Given the description of an element on the screen output the (x, y) to click on. 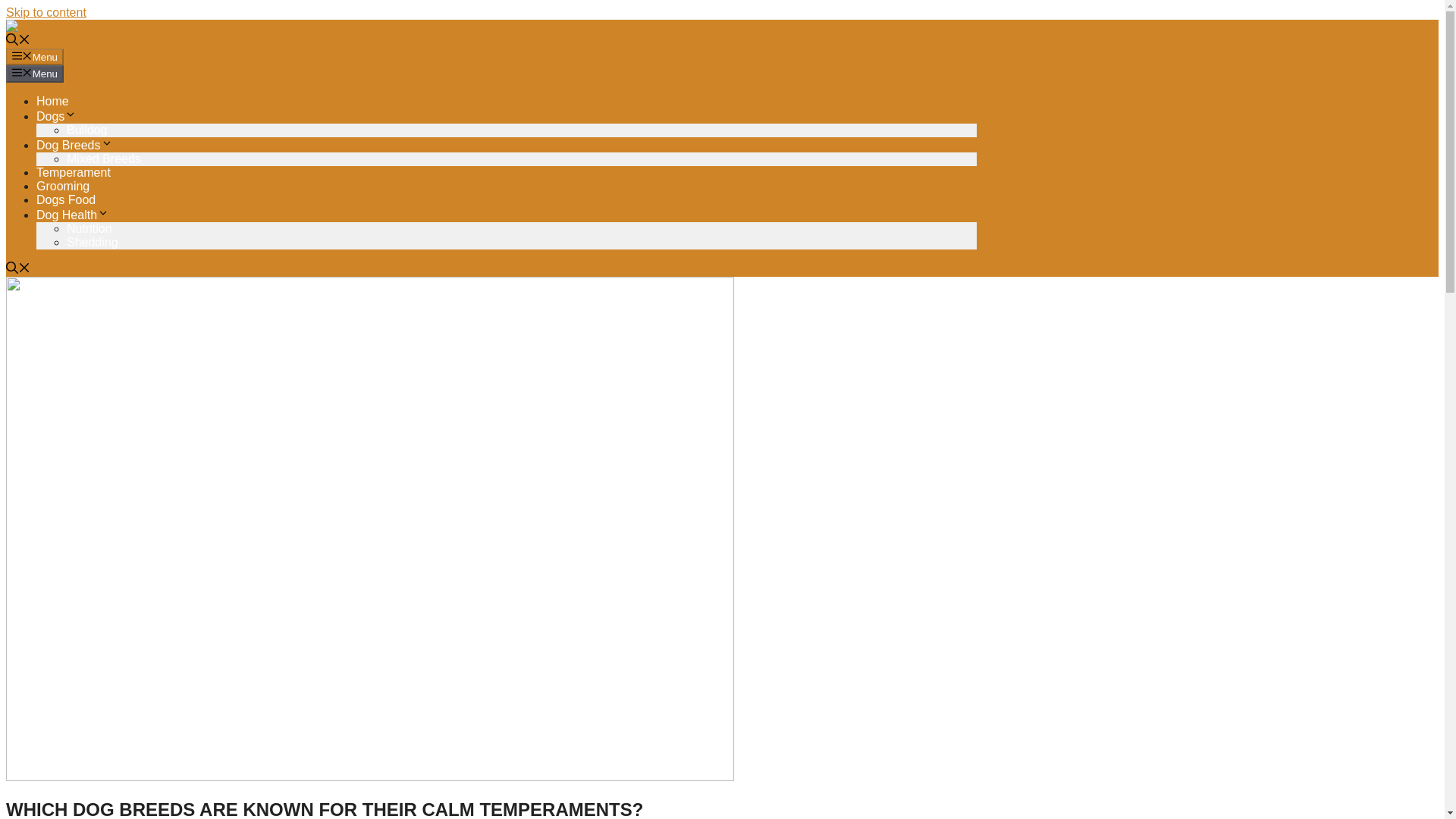
Bulldog (86, 129)
Skip to content (45, 11)
Shedding (91, 241)
Dog Breeds (74, 144)
Nutrition (89, 228)
Dog Health (72, 214)
Skip to content (45, 11)
Temperament (73, 172)
Grooming (62, 185)
Mixed Breeds (103, 158)
Home (52, 101)
Menu (34, 73)
Menu (34, 56)
Dogs Food (66, 199)
Dogs (56, 115)
